Given the description of an element on the screen output the (x, y) to click on. 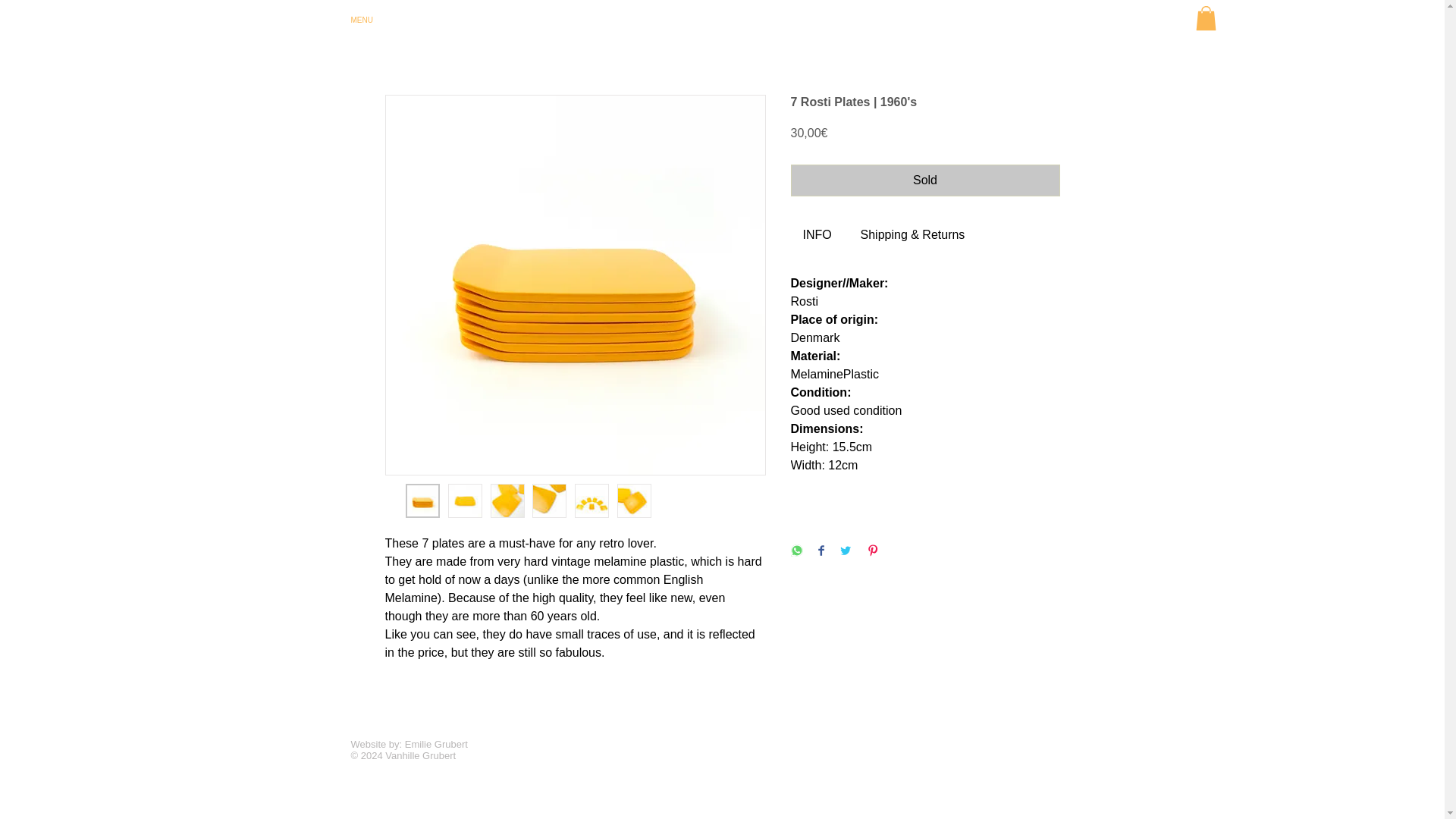
MENU (423, 20)
Use right and left arrows to navigate between tabs (911, 234)
Use right and left arrows to navigate between tabs (818, 234)
Sold (924, 180)
